Given the description of an element on the screen output the (x, y) to click on. 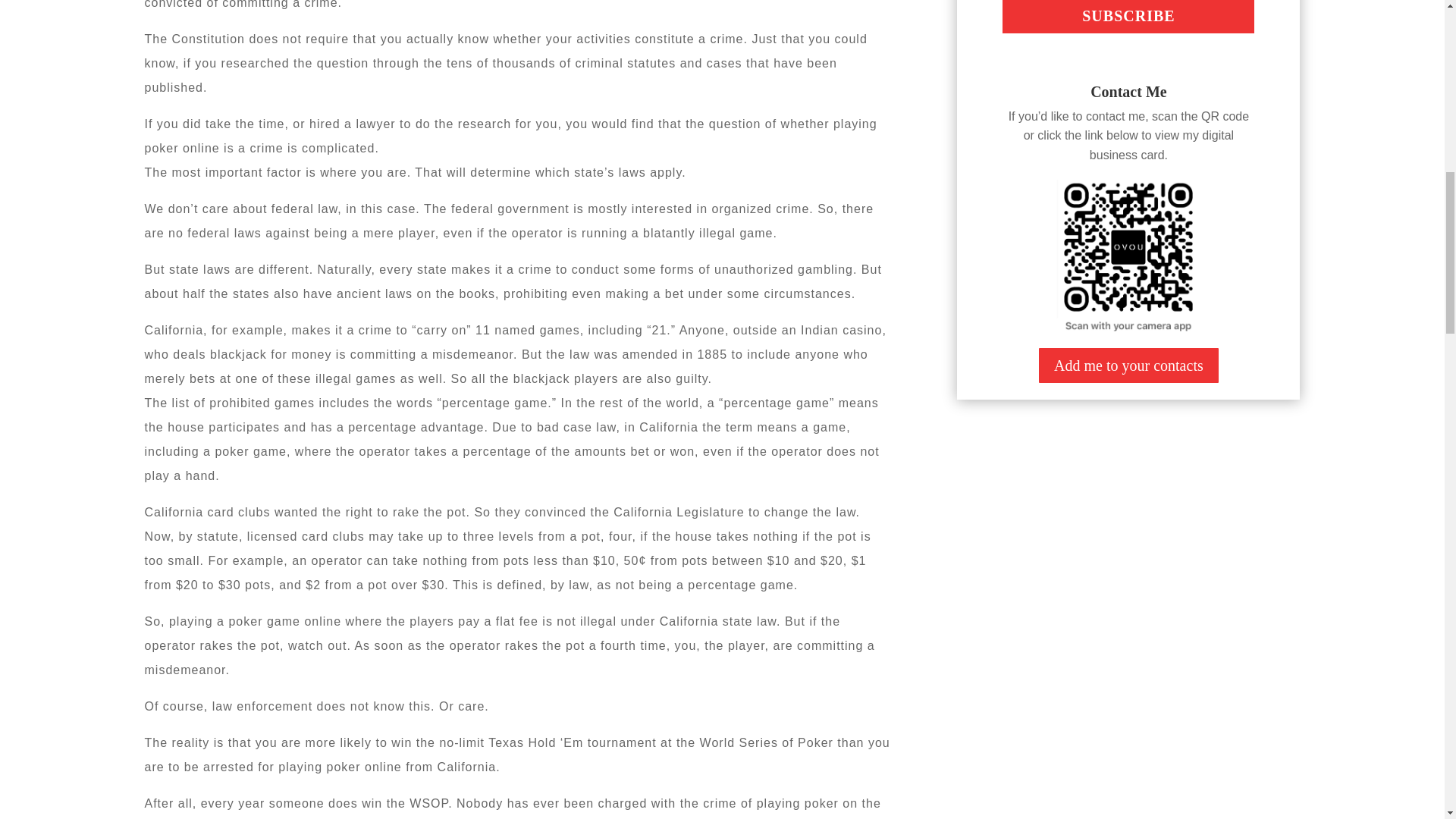
SUBSCRIBE (1128, 16)
Add me to your contacts (1128, 365)
